Given the description of an element on the screen output the (x, y) to click on. 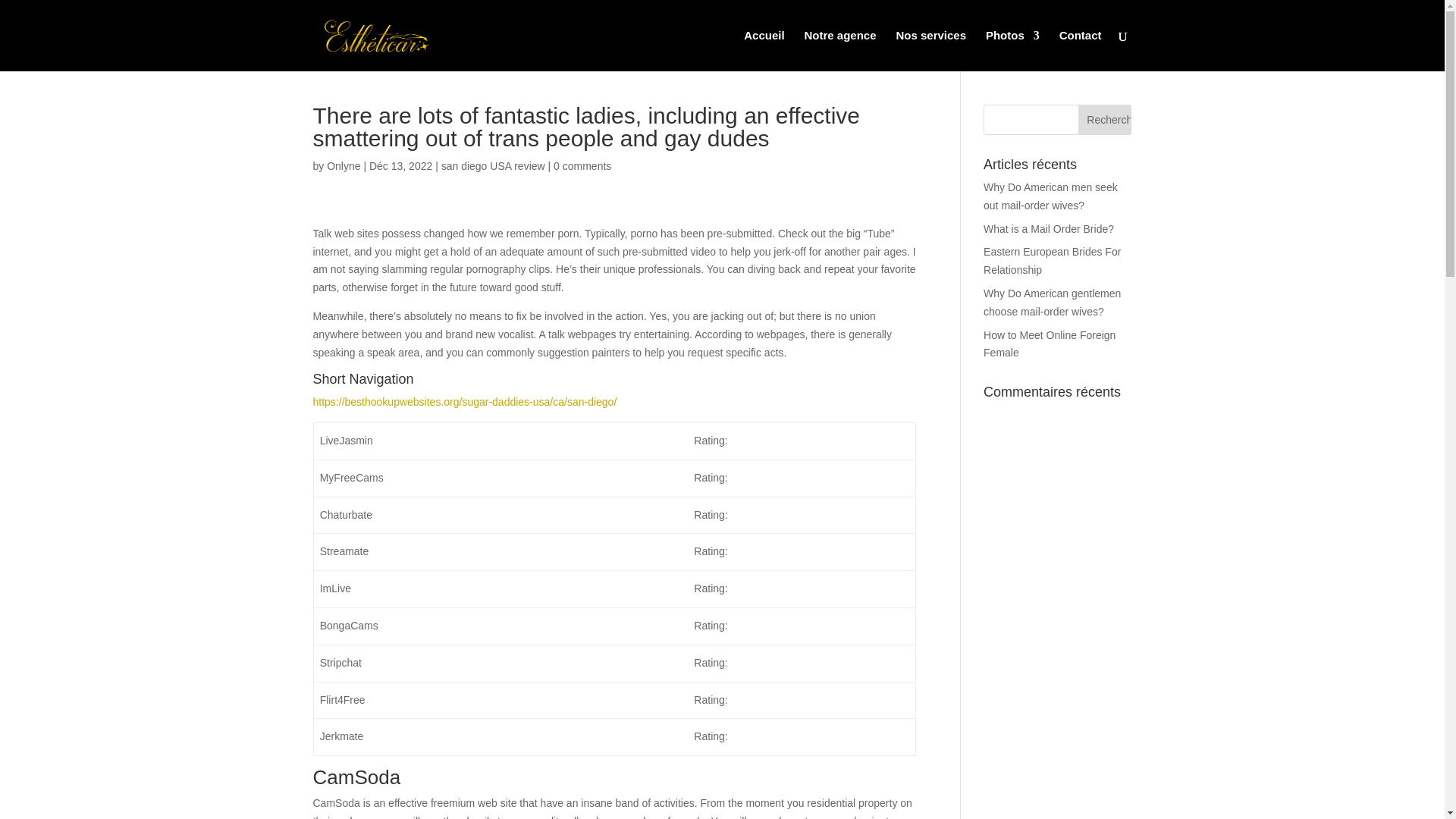
Posts by Onlyne (342, 165)
What is a Mail Order Bride? (1048, 228)
Eastern European Brides For Relationship (1052, 260)
Onlyne (342, 165)
0 comments (582, 165)
Why Do American men seek out mail-order wives? (1051, 195)
Rechercher (1104, 119)
Rechercher (1104, 119)
Photos (1012, 50)
Notre agence (840, 50)
Why Do American gentlemen choose mail-order wives? (1052, 302)
How to Meet Online Foreign Female (1049, 344)
san diego USA review (492, 165)
Contact (1080, 50)
Nos services (930, 50)
